Given the description of an element on the screen output the (x, y) to click on. 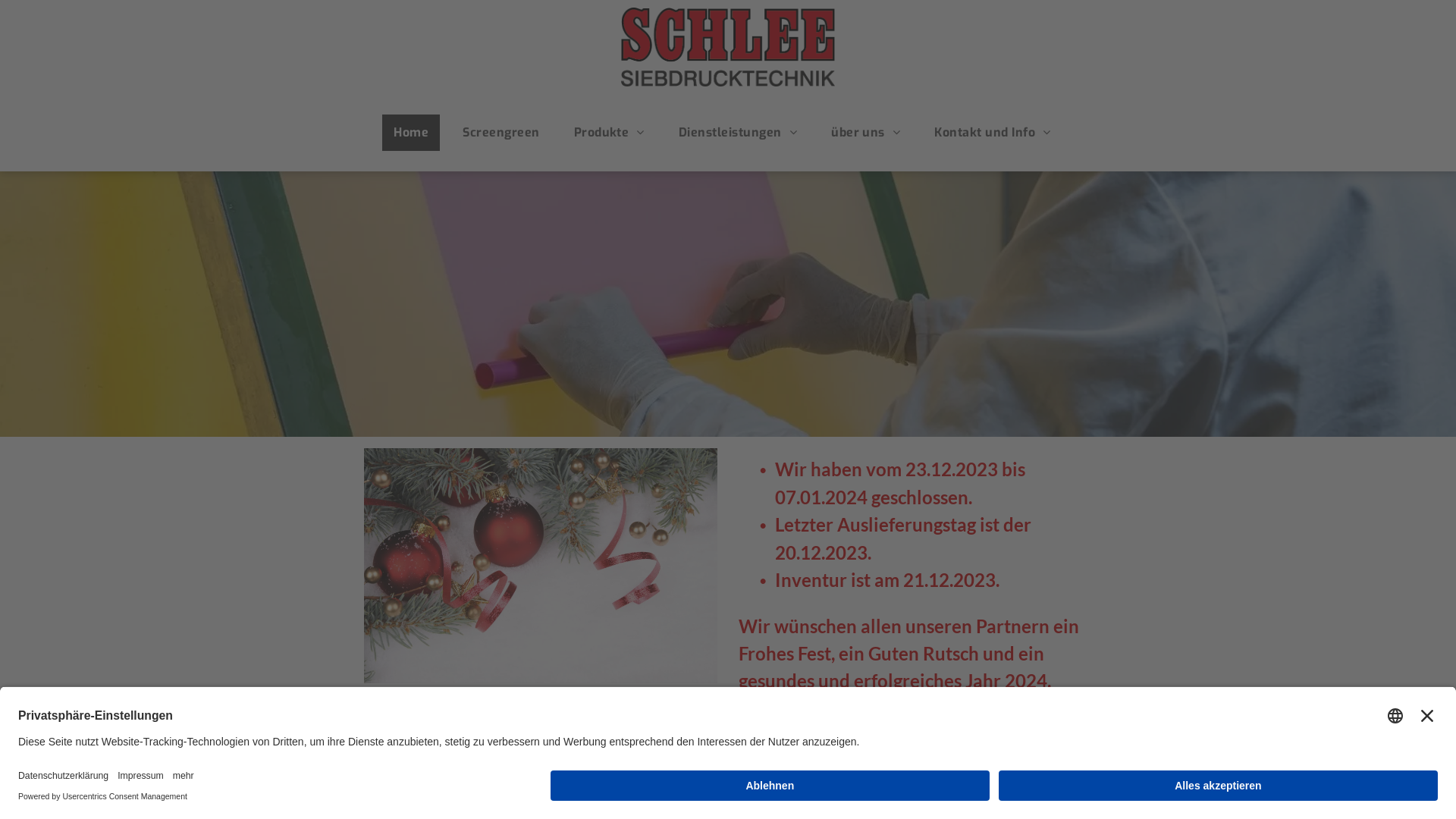
Screengreen Element type: text (500, 132)
Home Element type: text (410, 132)
Kontakt und Info Element type: text (991, 132)
Produkte Element type: text (608, 132)
Dienstleistungen Element type: text (737, 132)
